Given the description of an element on the screen output the (x, y) to click on. 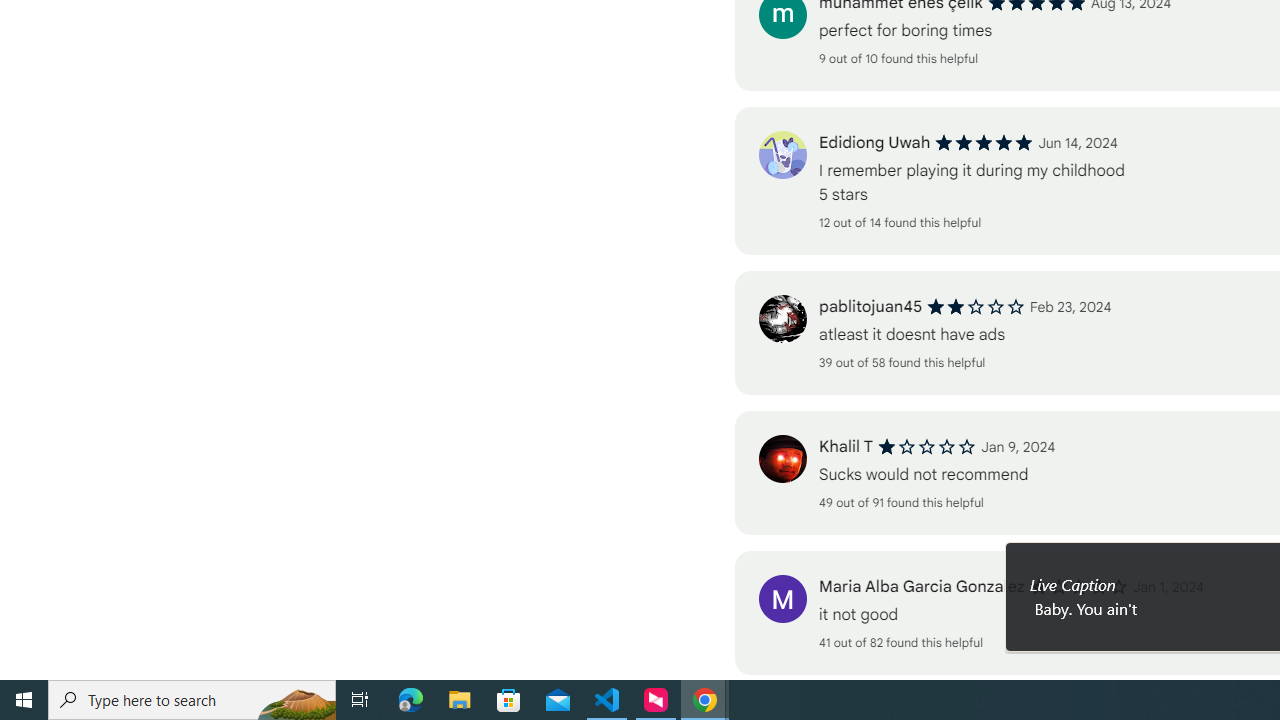
1 out of 5 stars (1077, 587)
Review's profile picture (782, 598)
2 out of 5 stars (975, 306)
5 out of 5 stars (984, 142)
